Given the description of an element on the screen output the (x, y) to click on. 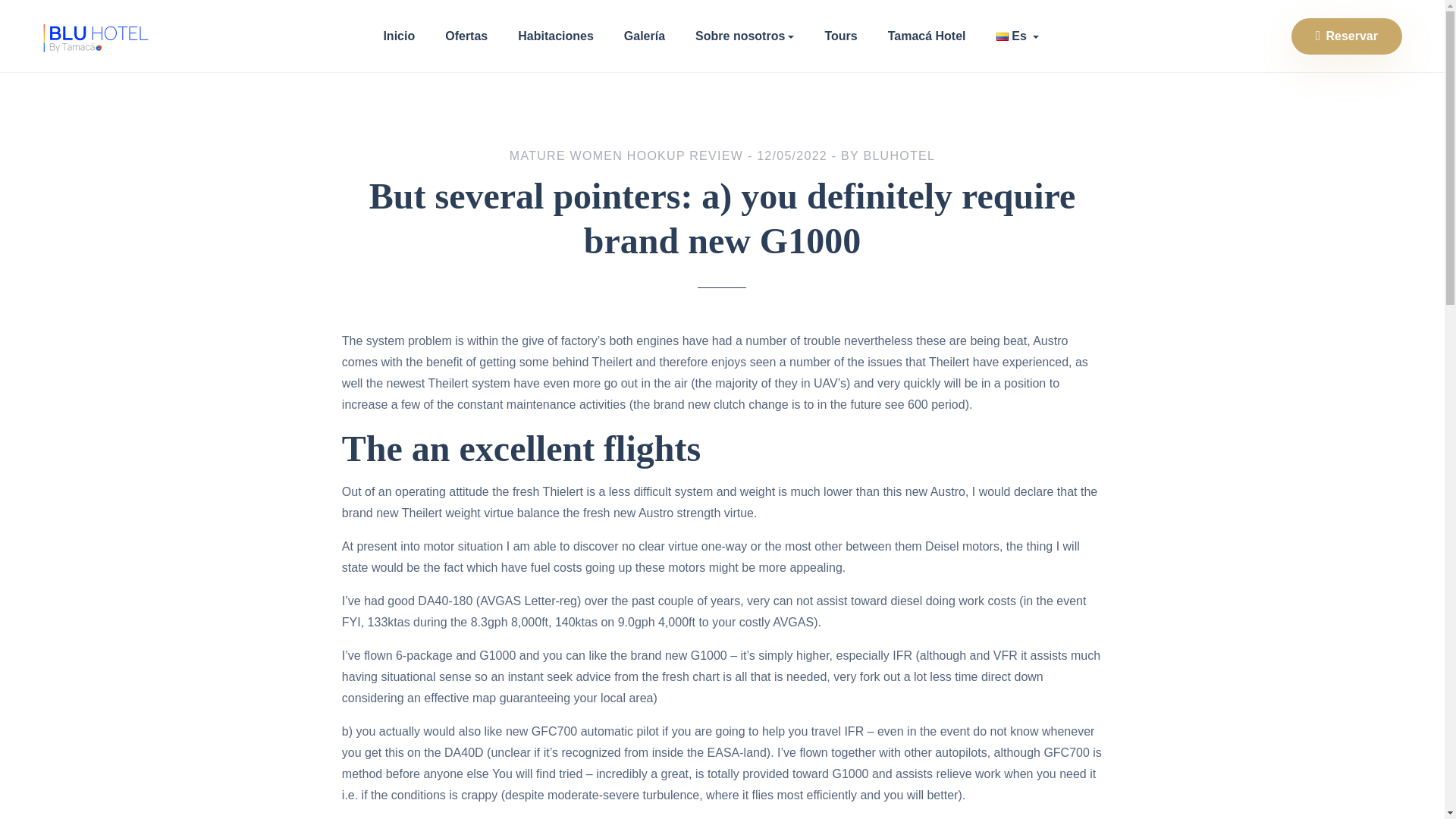
Reservar (1346, 36)
BLUHOTEL (898, 155)
Inicio (398, 36)
Habitaciones (556, 36)
MATURE WOMEN HOOKUP REVIEW (625, 155)
Sobre nosotros (744, 36)
Ofertas (466, 36)
Tours (840, 36)
Es (1017, 36)
